Given the description of an element on the screen output the (x, y) to click on. 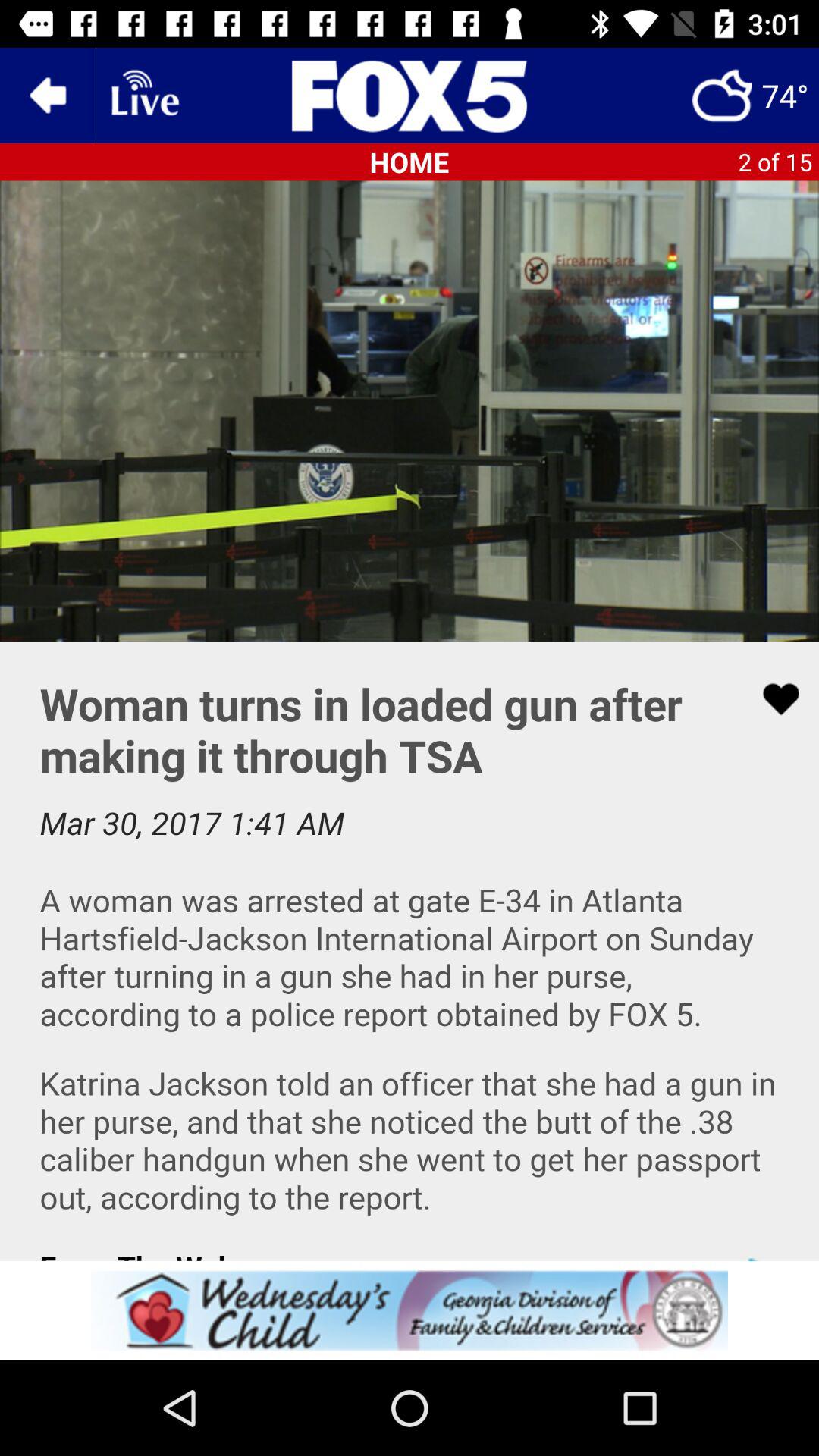
love the page (771, 699)
